Given the description of an element on the screen output the (x, y) to click on. 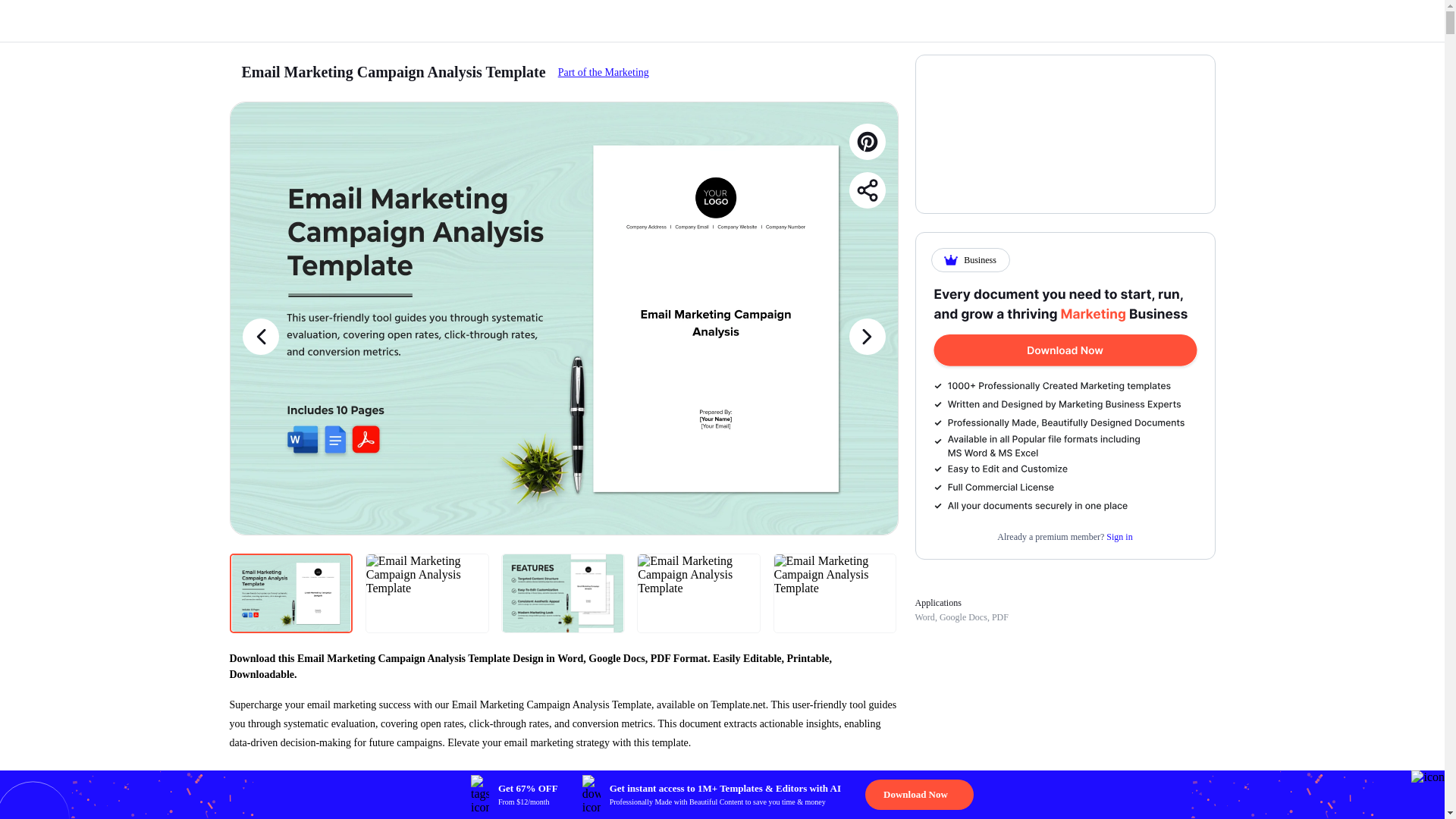
Part of the Marketing (603, 71)
Banner Pricing Bundle (1065, 399)
Marketing (603, 71)
Word (924, 616)
, Google Docs (960, 616)
, PDF (998, 616)
